Given the description of an element on the screen output the (x, y) to click on. 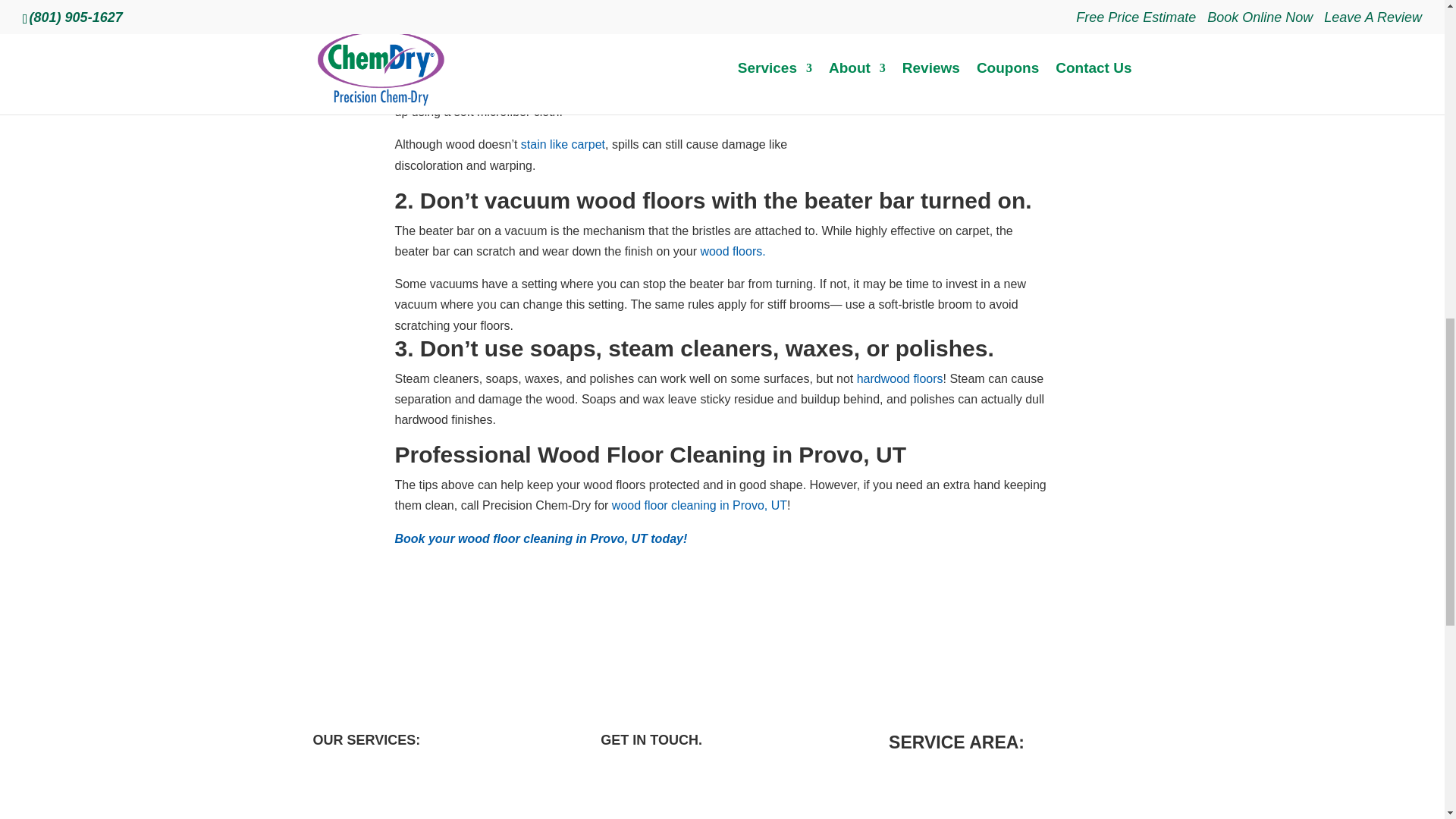
wood floor cleaning in Provo, UT (697, 504)
hardwood floors (900, 378)
wood floors. (732, 250)
Upholstery Cleaning (390, 784)
Area Rug Cleaning (384, 807)
stain like carpet (563, 144)
Carpet Cleaning (376, 762)
Book your wood floor cleaning in Provo, UT today! (540, 538)
